Given the description of an element on the screen output the (x, y) to click on. 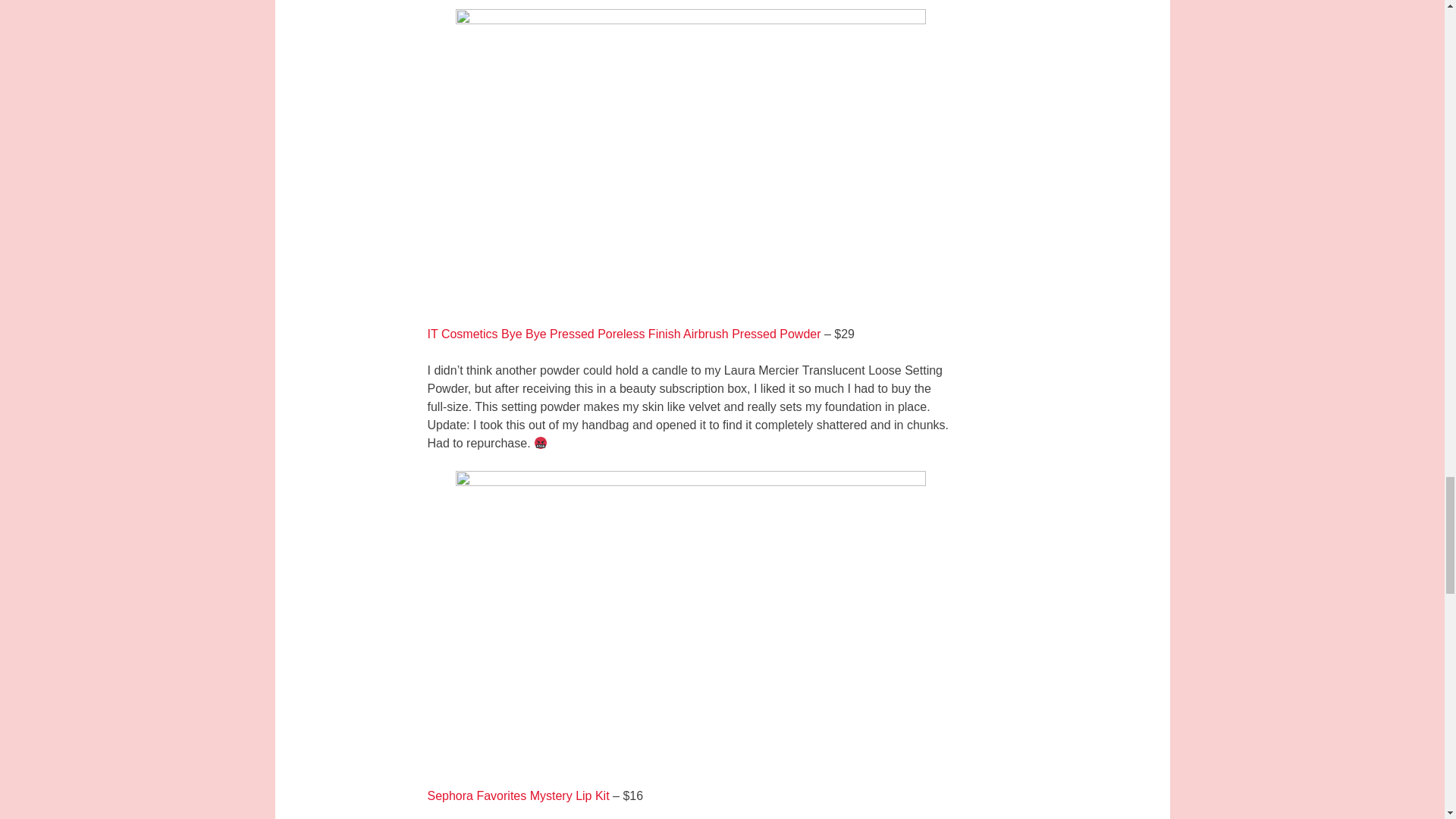
Sephora Favorites Mystery Lip Kit (519, 795)
